Given the description of an element on the screen output the (x, y) to click on. 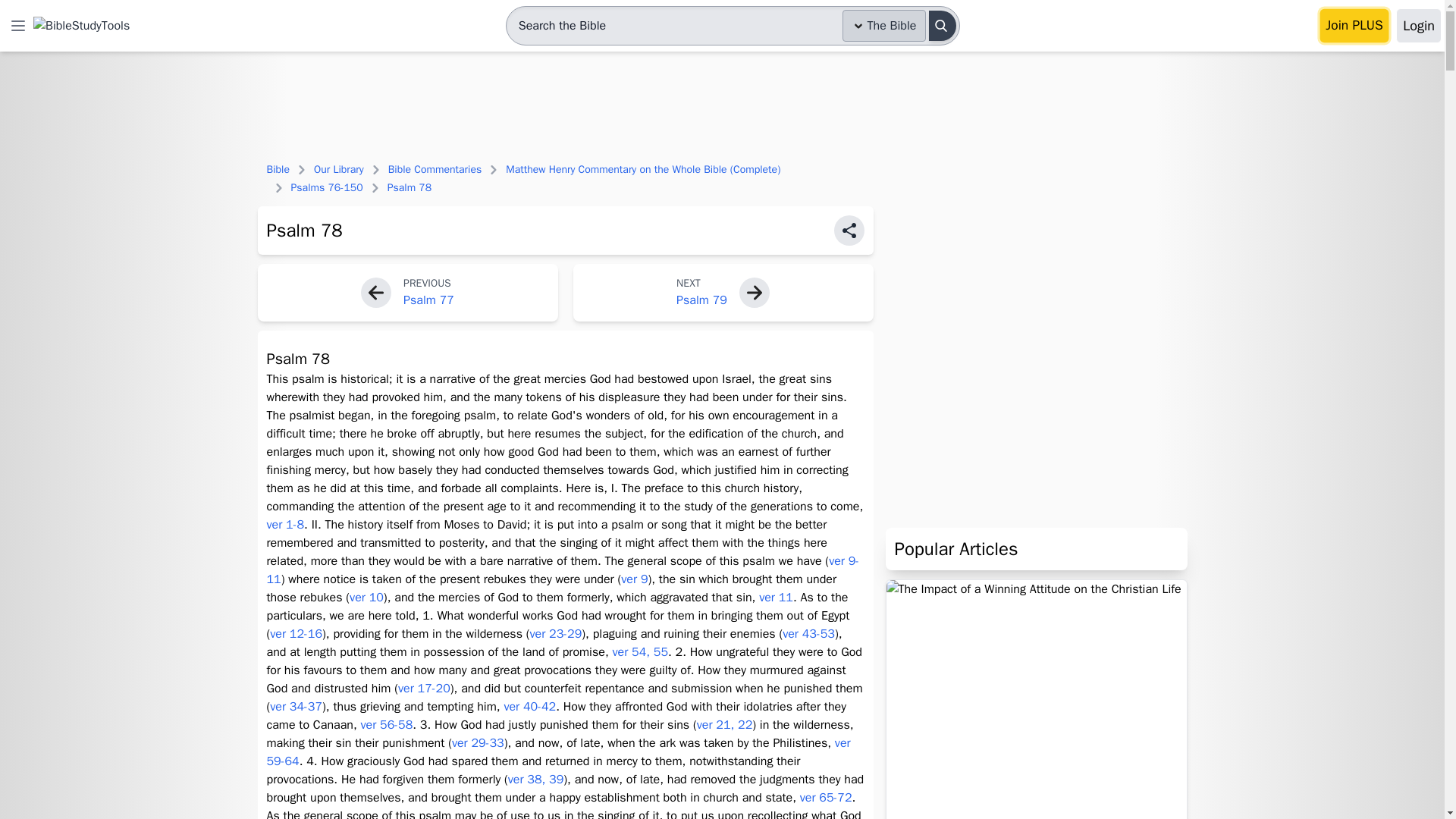
Join PLUS (1354, 25)
The Bible (884, 25)
Login (1418, 25)
